Given the description of an element on the screen output the (x, y) to click on. 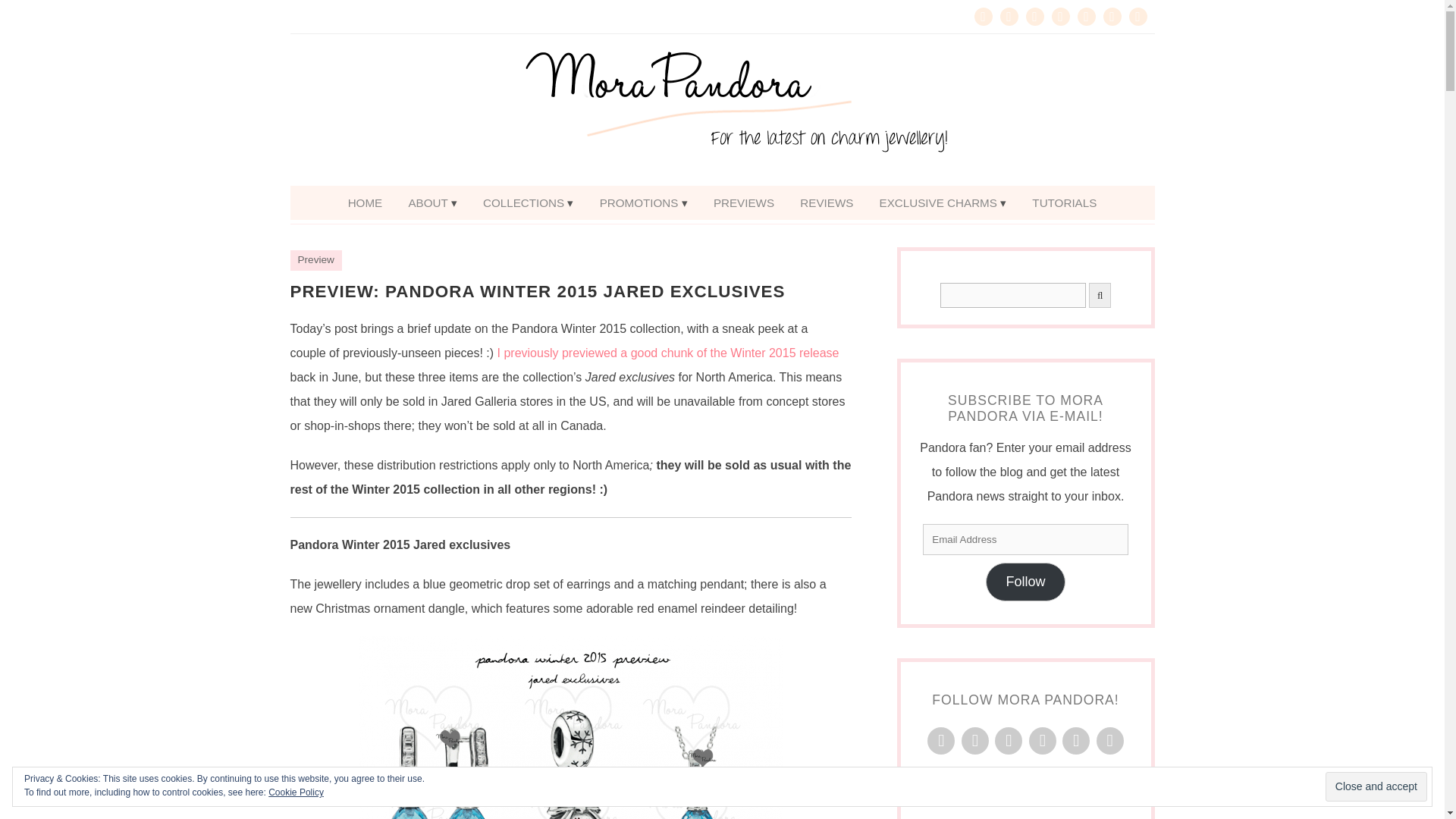
EXCLUSIVE CHARMS (942, 202)
REVIEWS (826, 202)
Close and accept (1375, 786)
HOME (365, 202)
COLLECTIONS (528, 202)
Preview (315, 259)
Mora Pandora (721, 109)
ABOUT (431, 202)
Preview: Pandora Winter 2015 Jared Exclusives (536, 291)
TUTORIALS (1064, 202)
PREVIEWS (743, 202)
PROMOTIONS (643, 202)
PREVIEW: PANDORA WINTER 2015 JARED EXCLUSIVES (536, 291)
Search (1013, 294)
